Given the description of an element on the screen output the (x, y) to click on. 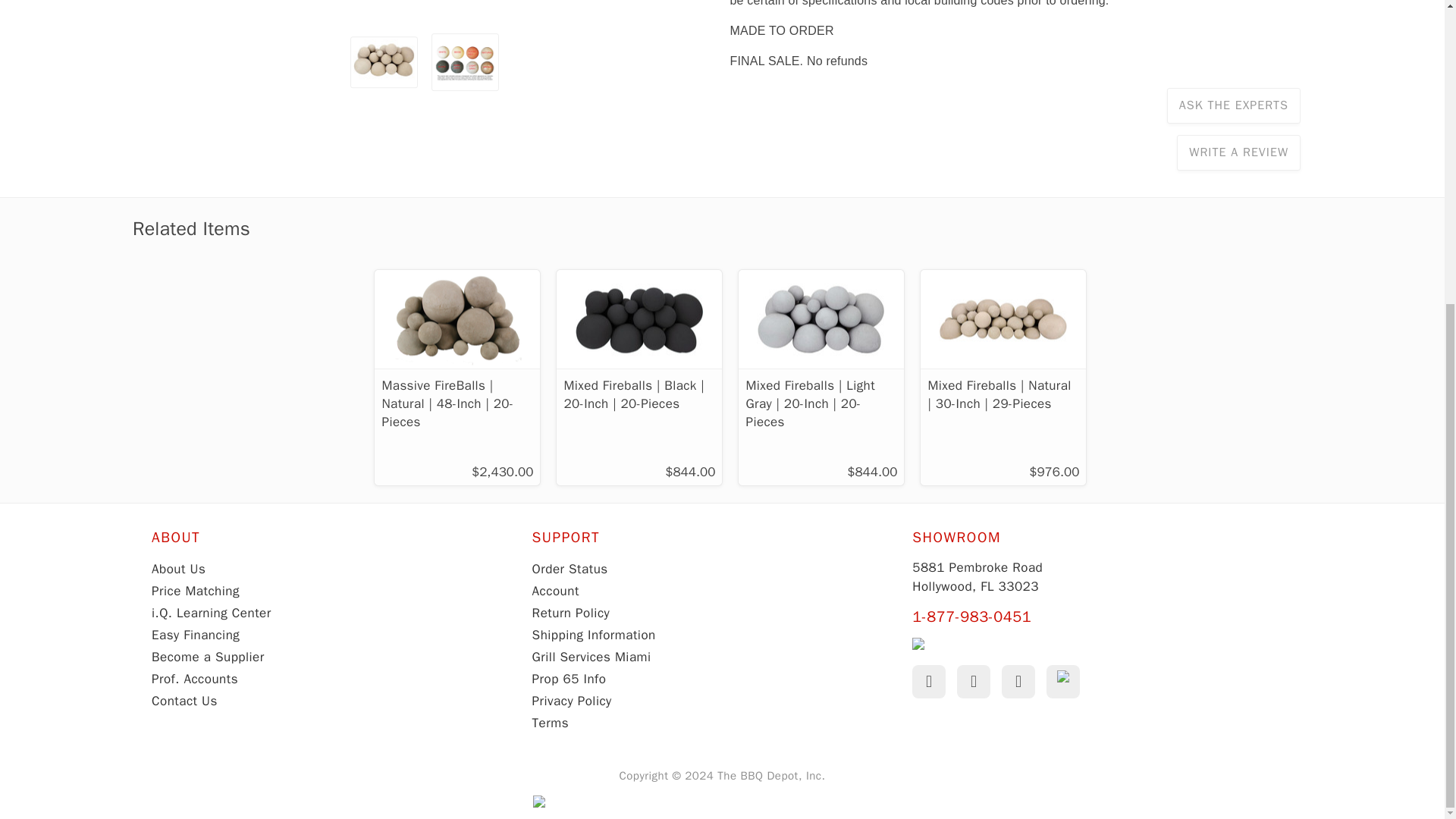
Image 2 (464, 59)
ASK THE EXPERTS (1233, 105)
Youtube (973, 681)
Return Policy (571, 612)
Instagram (1018, 681)
TikTok (1063, 681)
Facebook (928, 681)
Account (555, 590)
5881 Pembroke Road (977, 576)
Order Status (570, 569)
